Given the description of an element on the screen output the (x, y) to click on. 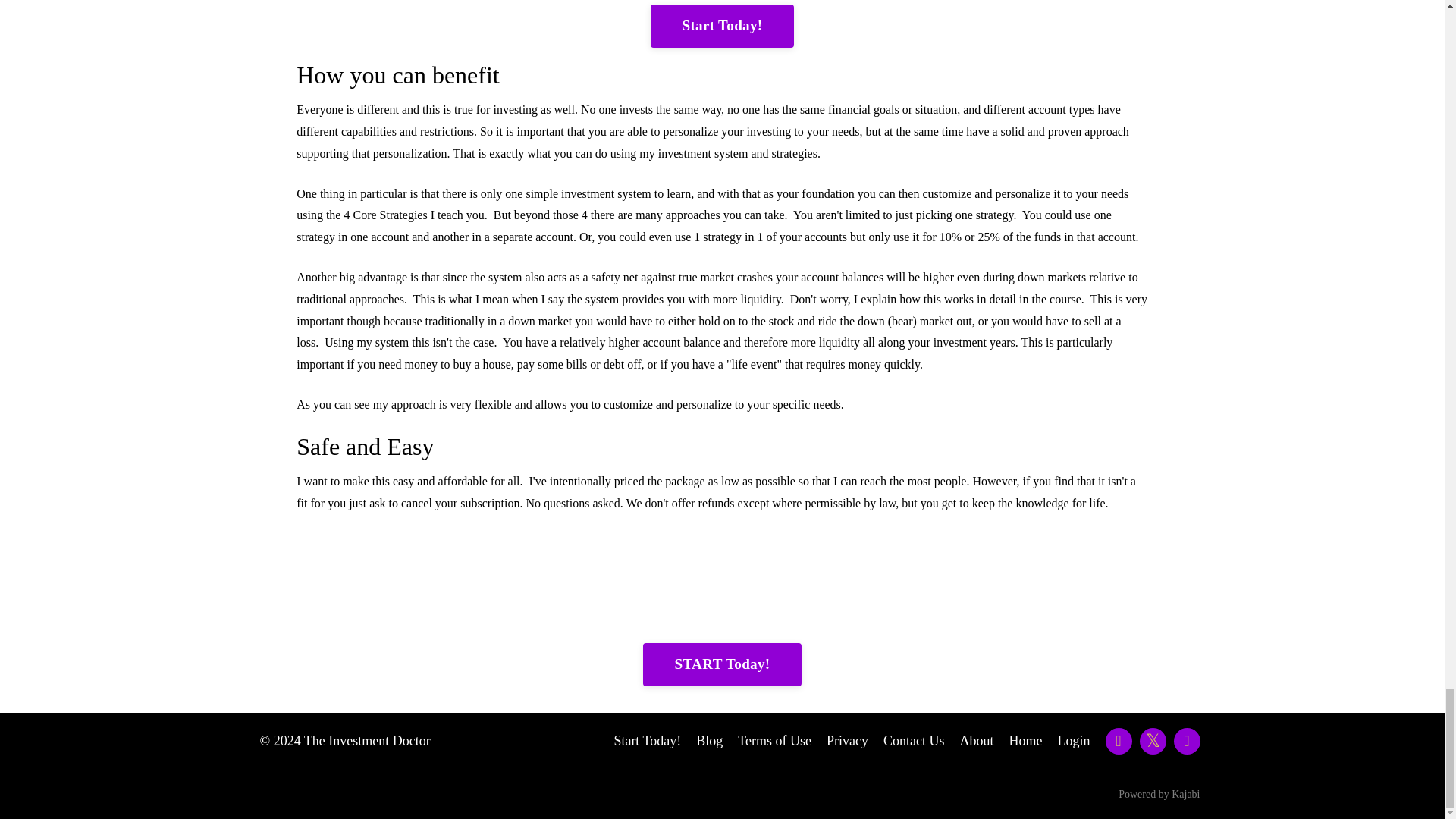
Login (1073, 740)
Start Today! (722, 25)
Blog (708, 740)
Terms of Use (774, 740)
START Today! (722, 664)
Home (1025, 740)
Contact Us (913, 740)
Start Today! (646, 740)
Privacy (847, 740)
About (976, 740)
